Given the description of an element on the screen output the (x, y) to click on. 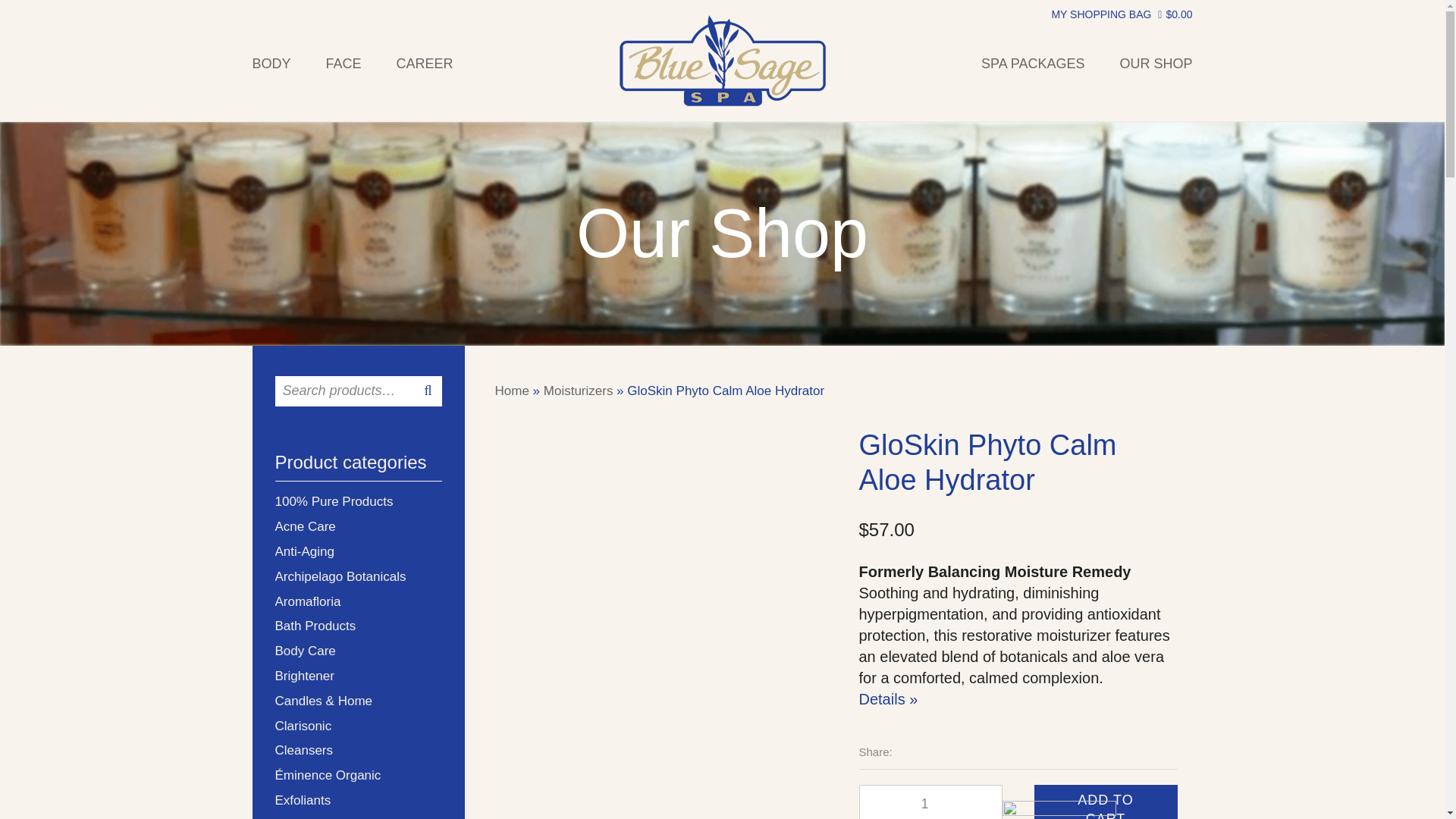
FACE (343, 63)
Aromafloria (358, 601)
Cleansers (358, 751)
1 (930, 801)
Eye Care (358, 817)
Exfoliants (358, 800)
SPA PACKAGES (1041, 63)
View your shopping cart (1121, 14)
Body Care (358, 651)
OUR SHOP (1147, 63)
